Given the description of an element on the screen output the (x, y) to click on. 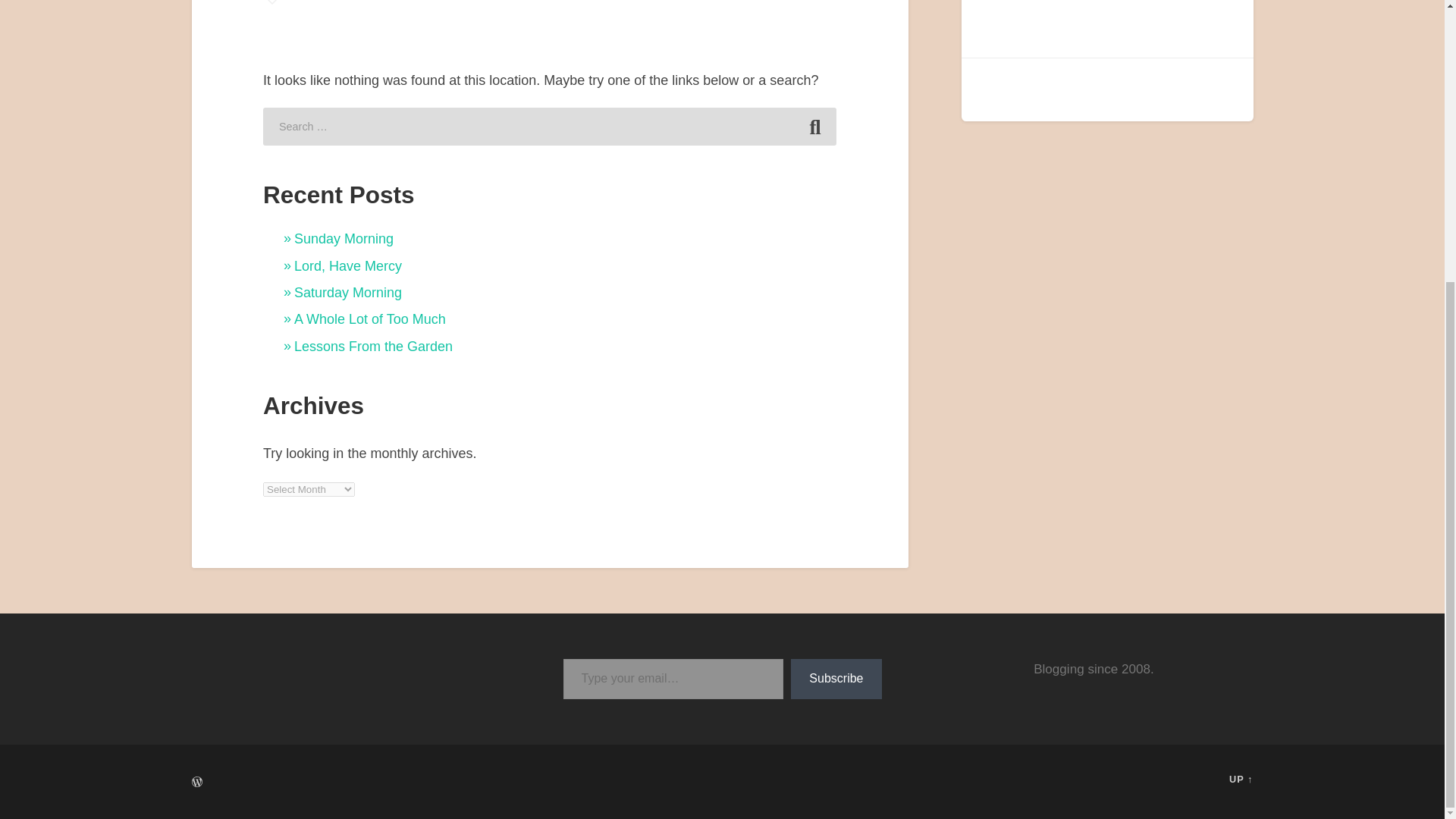
Search (815, 126)
Saturday Morning (347, 292)
Follow Button (1107, 23)
A Whole Lot of Too Much (369, 319)
Lessons From the Garden (373, 346)
CREATE A WEBSITE OR BLOG AT WORDPRESS.COM (196, 782)
Search (815, 126)
Lord, Have Mercy (347, 265)
CREATE A WEBSITE OR BLOG AT WORDPRESS.COM (196, 781)
Subscribe (835, 679)
Create a website or blog at WordPress.com (196, 782)
Sunday Morning (343, 238)
Please fill in this field. (672, 679)
To the top (1240, 778)
Search (815, 126)
